Given the description of an element on the screen output the (x, y) to click on. 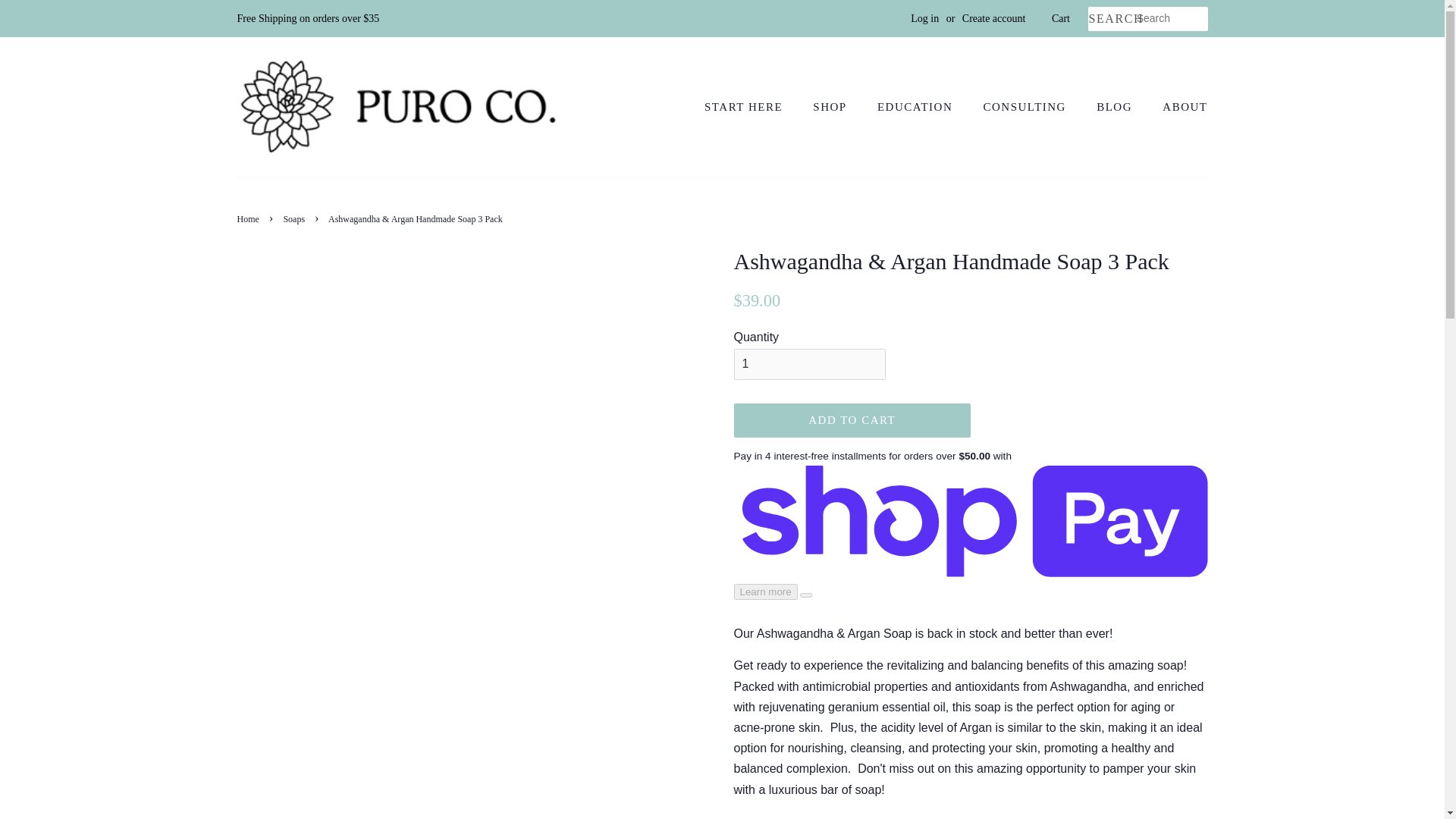
Back to the frontpage (248, 218)
CONSULTING (1026, 107)
SEARCH (1111, 18)
Soaps (295, 218)
ABOUT (1179, 107)
ADD TO CART (852, 420)
Cart (1060, 18)
START HERE (750, 107)
Log in (925, 18)
BLOG (1115, 107)
